Given the description of an element on the screen output the (x, y) to click on. 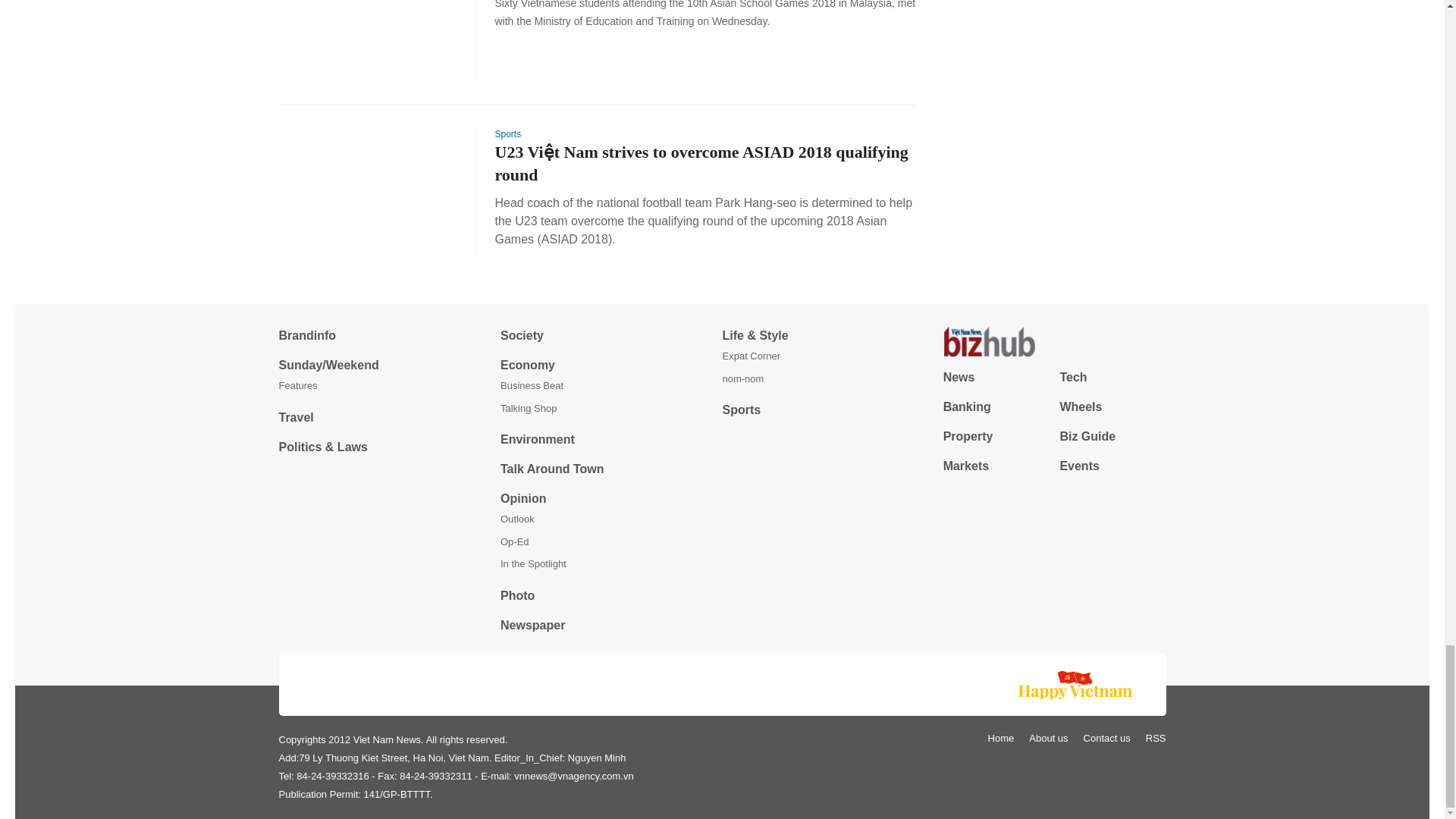
bizhub (1054, 341)
